Given the description of an element on the screen output the (x, y) to click on. 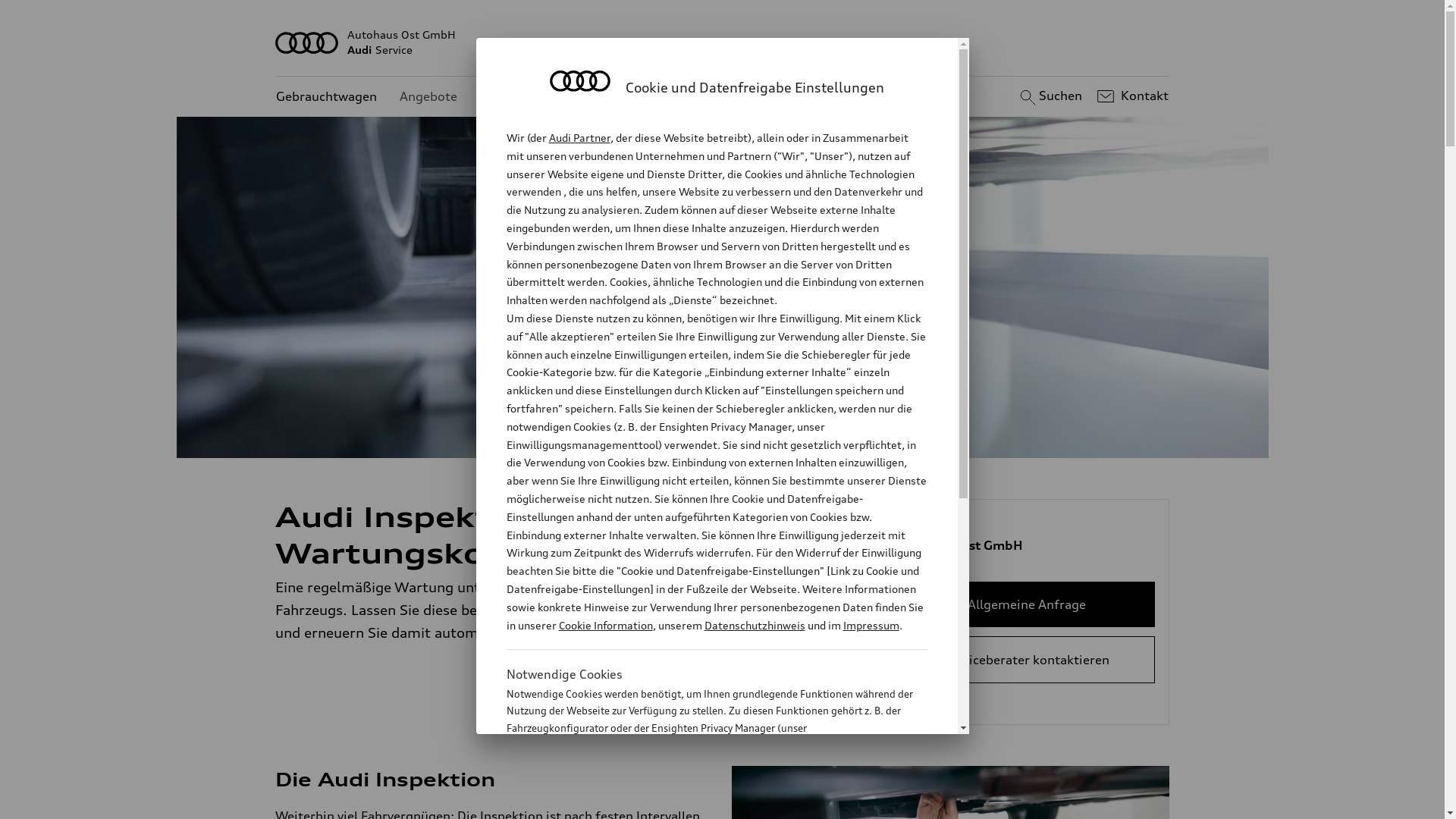
Angebote Element type: text (428, 96)
Datenschutzhinweis Element type: text (753, 624)
Cookie Information Element type: text (605, 624)
Cookie Information Element type: text (700, 802)
Kundenservice Element type: text (523, 96)
Suchen Element type: text (1049, 96)
Allgemeine Anfrage Element type: text (1025, 604)
Kontakt Element type: text (1130, 96)
Autohaus Ost GmbH
AudiService Element type: text (722, 42)
Serviceberater kontaktieren Element type: text (1025, 659)
Impressum Element type: text (871, 624)
Gebrauchtwagen Element type: text (326, 96)
Audi Partner Element type: text (579, 137)
